Given the description of an element on the screen output the (x, y) to click on. 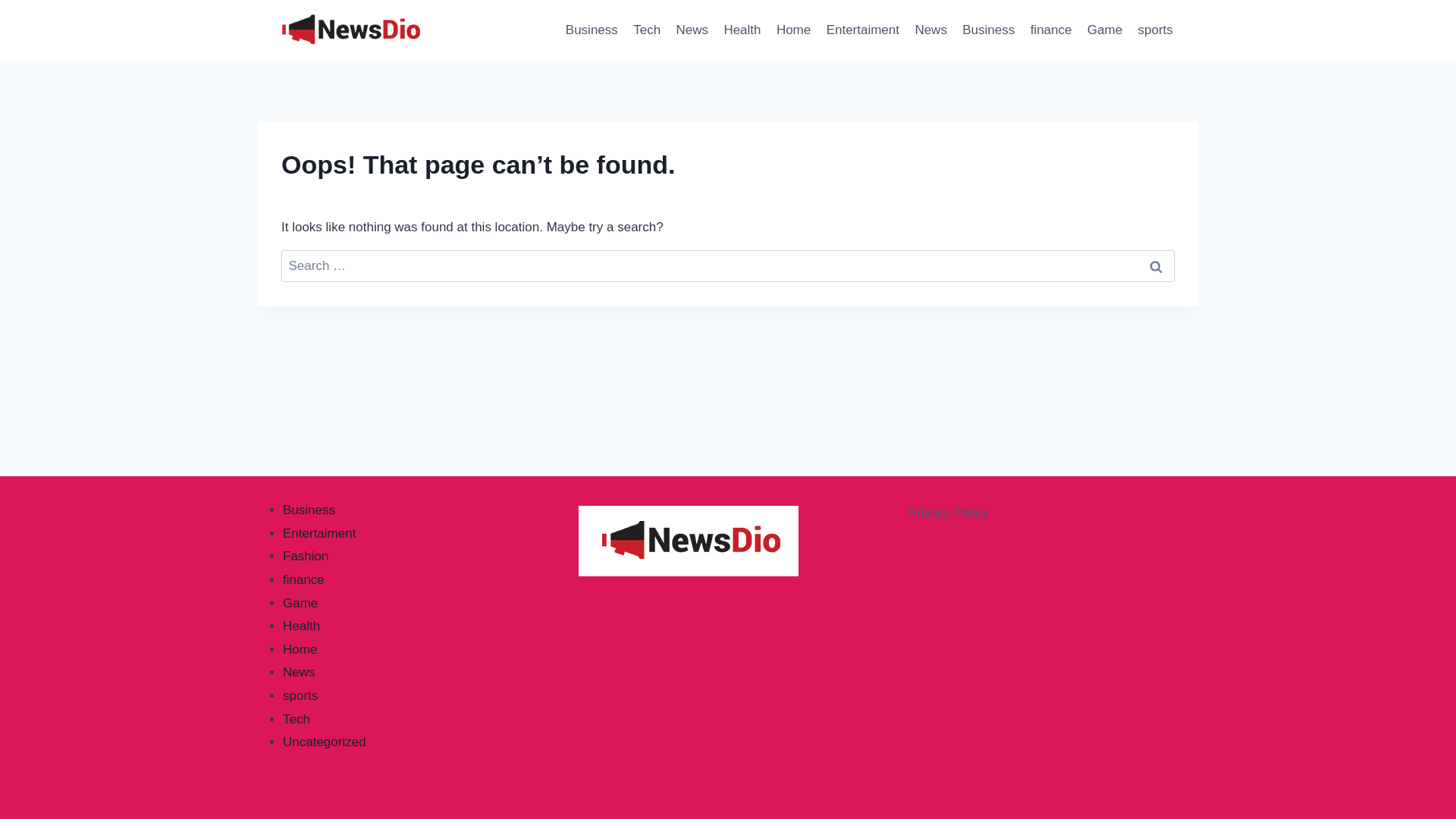
Business (988, 30)
News (692, 30)
Search (1155, 266)
Business (591, 30)
Game (1105, 30)
Game (299, 603)
Fashion (305, 555)
Privacy Policy (947, 512)
sports (1154, 30)
sports (299, 695)
Tech (296, 718)
Tech (647, 30)
News (931, 30)
Search (1155, 266)
Business (308, 509)
